Given the description of an element on the screen output the (x, y) to click on. 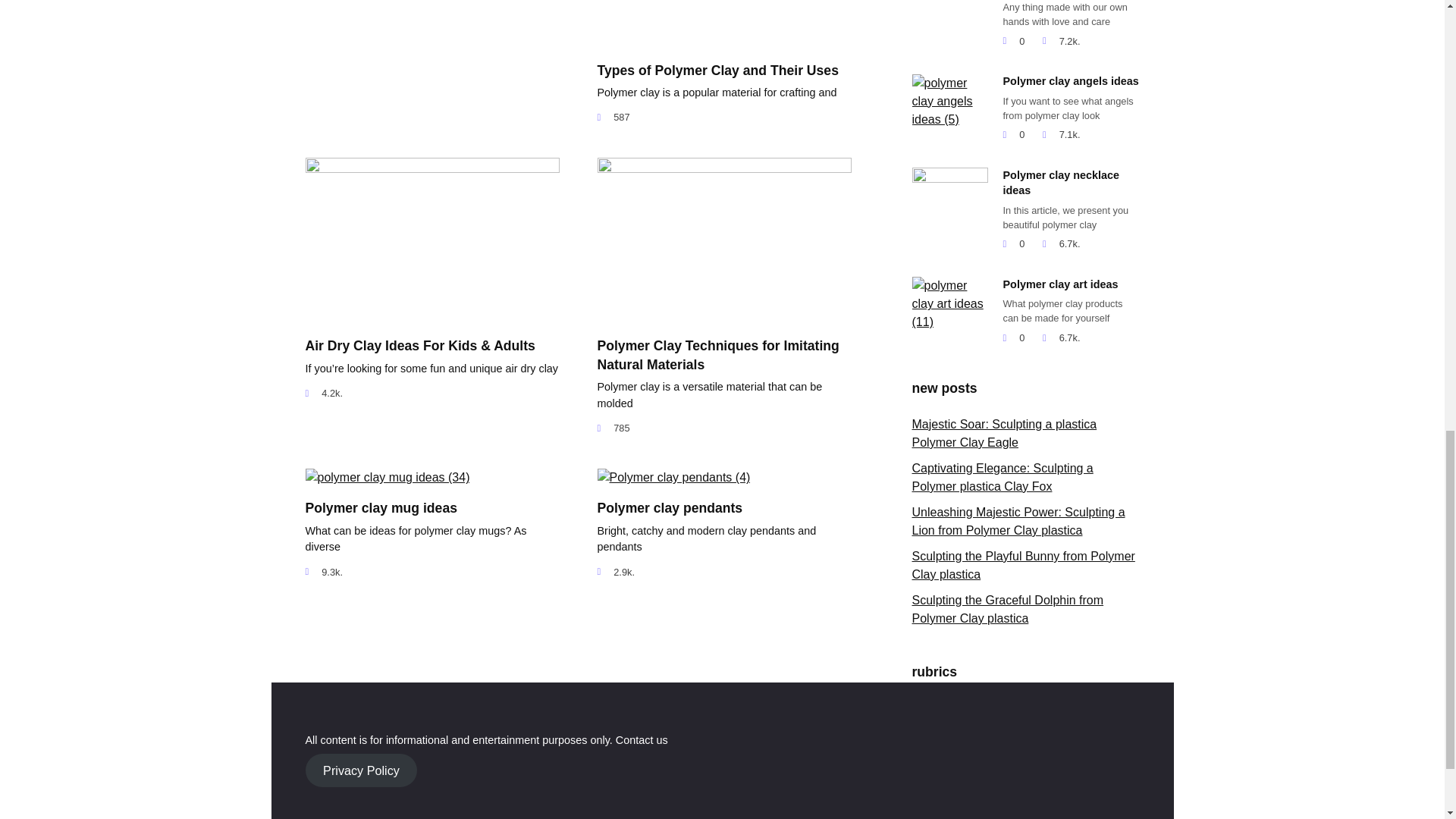
Majestic Soar: Sculpting a plastica Polymer Clay Eagle (1003, 432)
Polymer clay pendants (669, 507)
Polymer clay angels ideas (1070, 81)
Polymer Clay Techniques for Imitating Natural Materials (718, 354)
Polymer clay necklace ideas (1061, 183)
Polymer clay art ideas (1060, 284)
Polymer clay mug ideas (380, 507)
Types of Polymer Clay and Their Uses (717, 70)
